Given the description of an element on the screen output the (x, y) to click on. 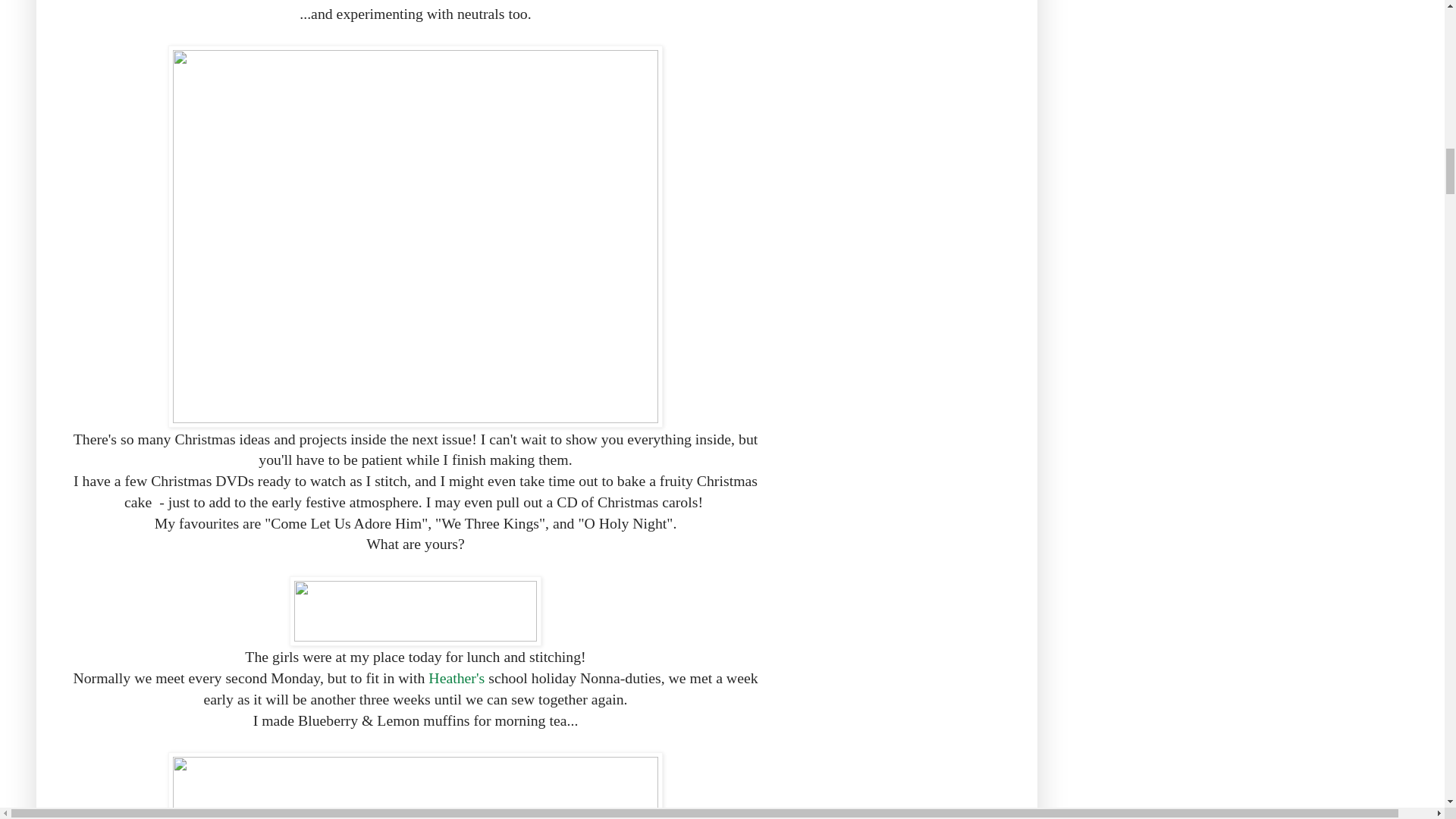
Heather's (456, 677)
